Given the description of an element on the screen output the (x, y) to click on. 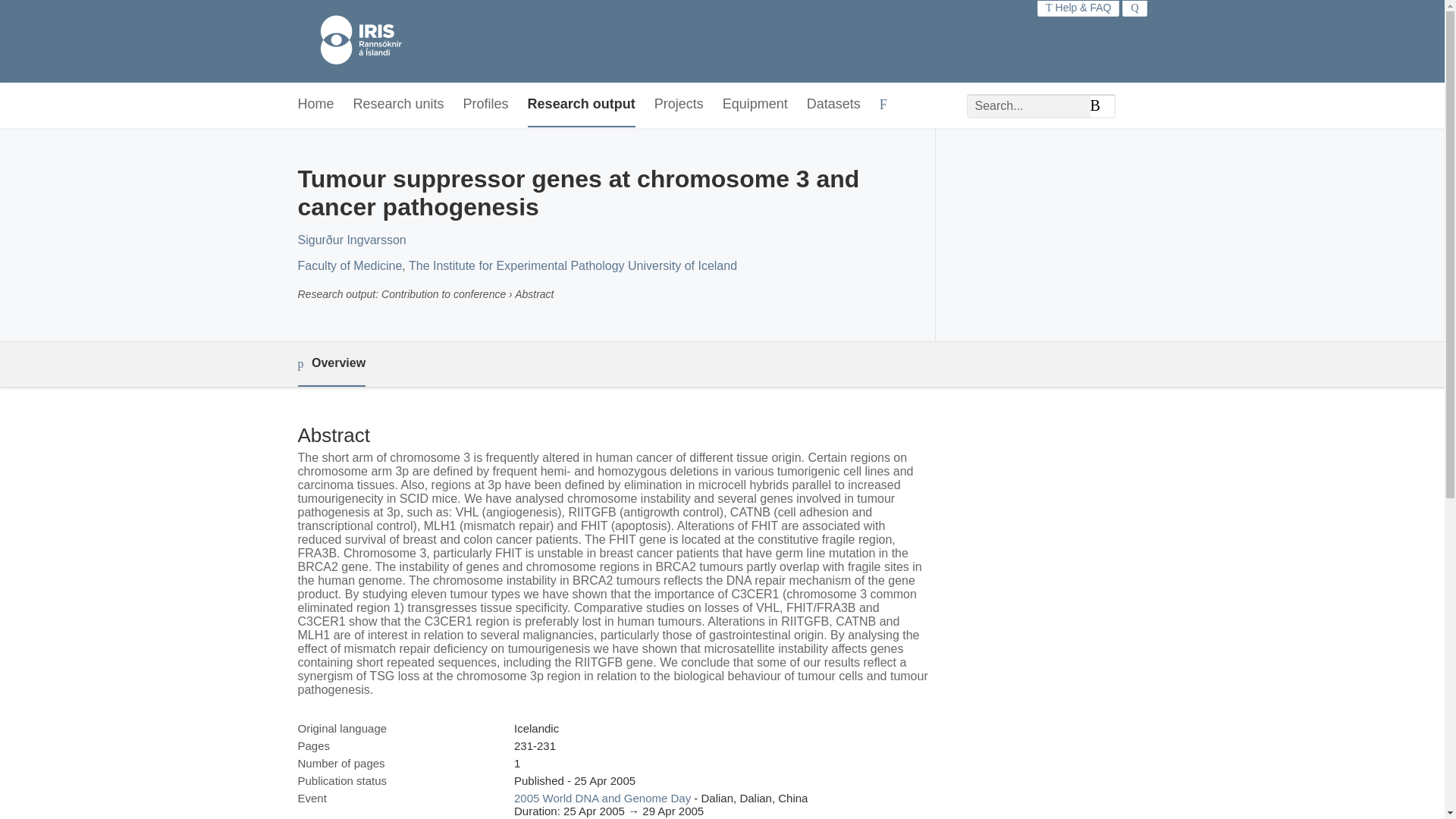
Equipment (754, 104)
Research output (580, 104)
2005 World DNA and Genome Day (601, 797)
Datasets (833, 104)
Faculty of Medicine (349, 265)
Overview (331, 364)
Home (353, 41)
Research units (398, 104)
Projects (678, 104)
Profiles (485, 104)
Home (315, 104)
